Given the description of an element on the screen output the (x, y) to click on. 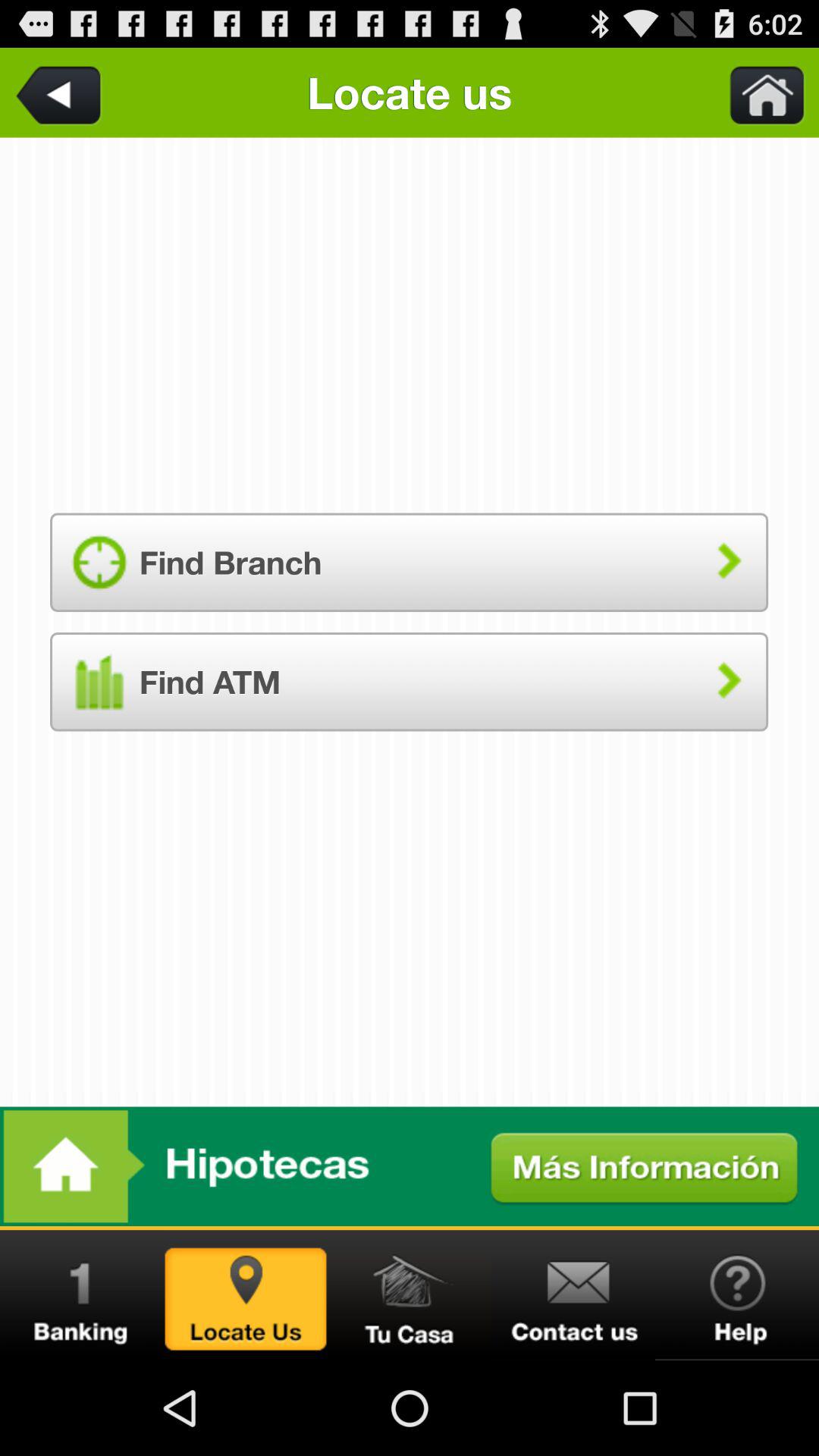
click on help which is at the bottom right corner (737, 1294)
select the symbol and text which is to the first right of banking (245, 1294)
click on tu casa (409, 1294)
go to contact us (573, 1294)
select the button which is below find branch (408, 681)
